Given the description of an element on the screen output the (x, y) to click on. 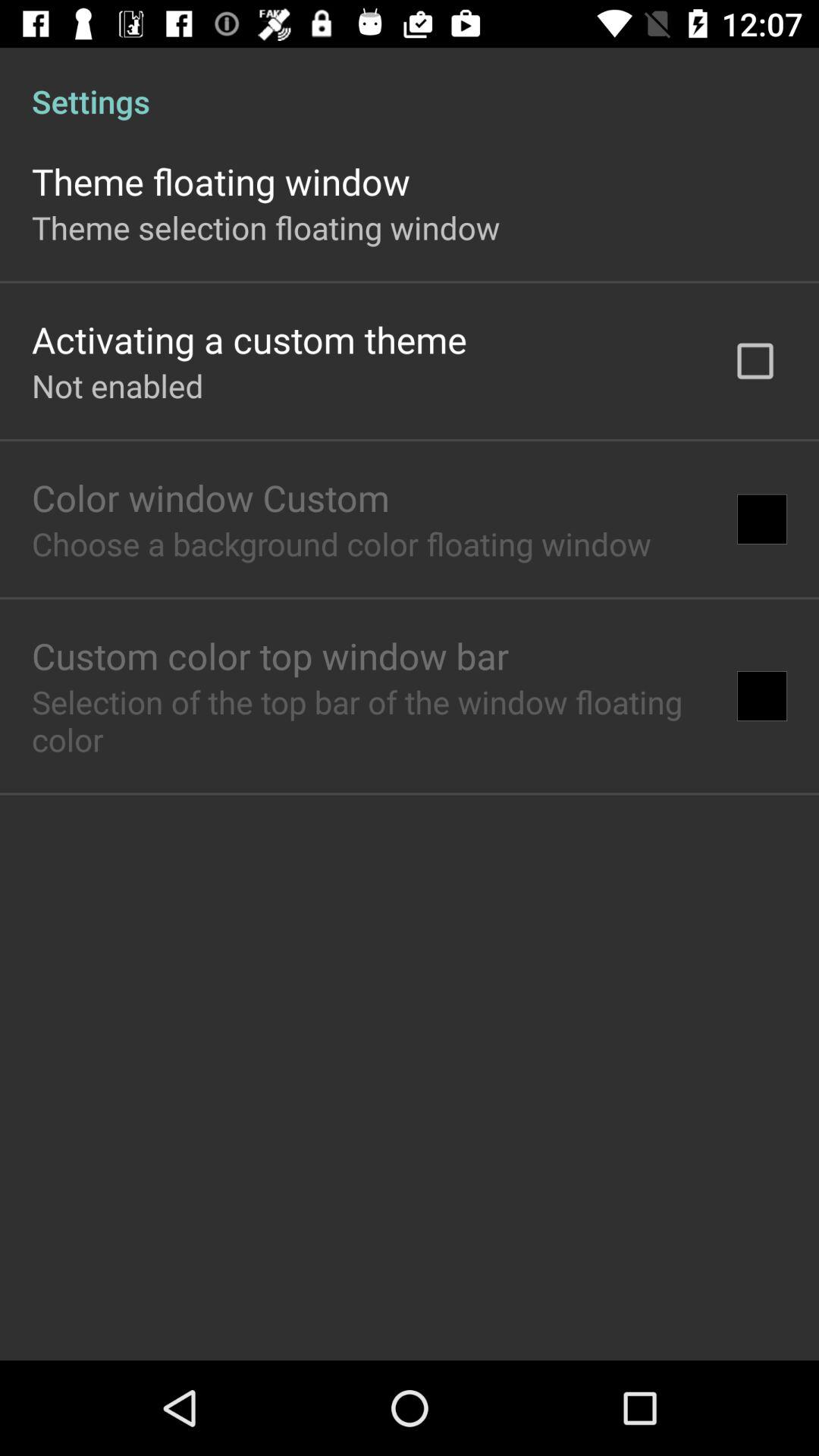
click not enabled app (117, 385)
